Given the description of an element on the screen output the (x, y) to click on. 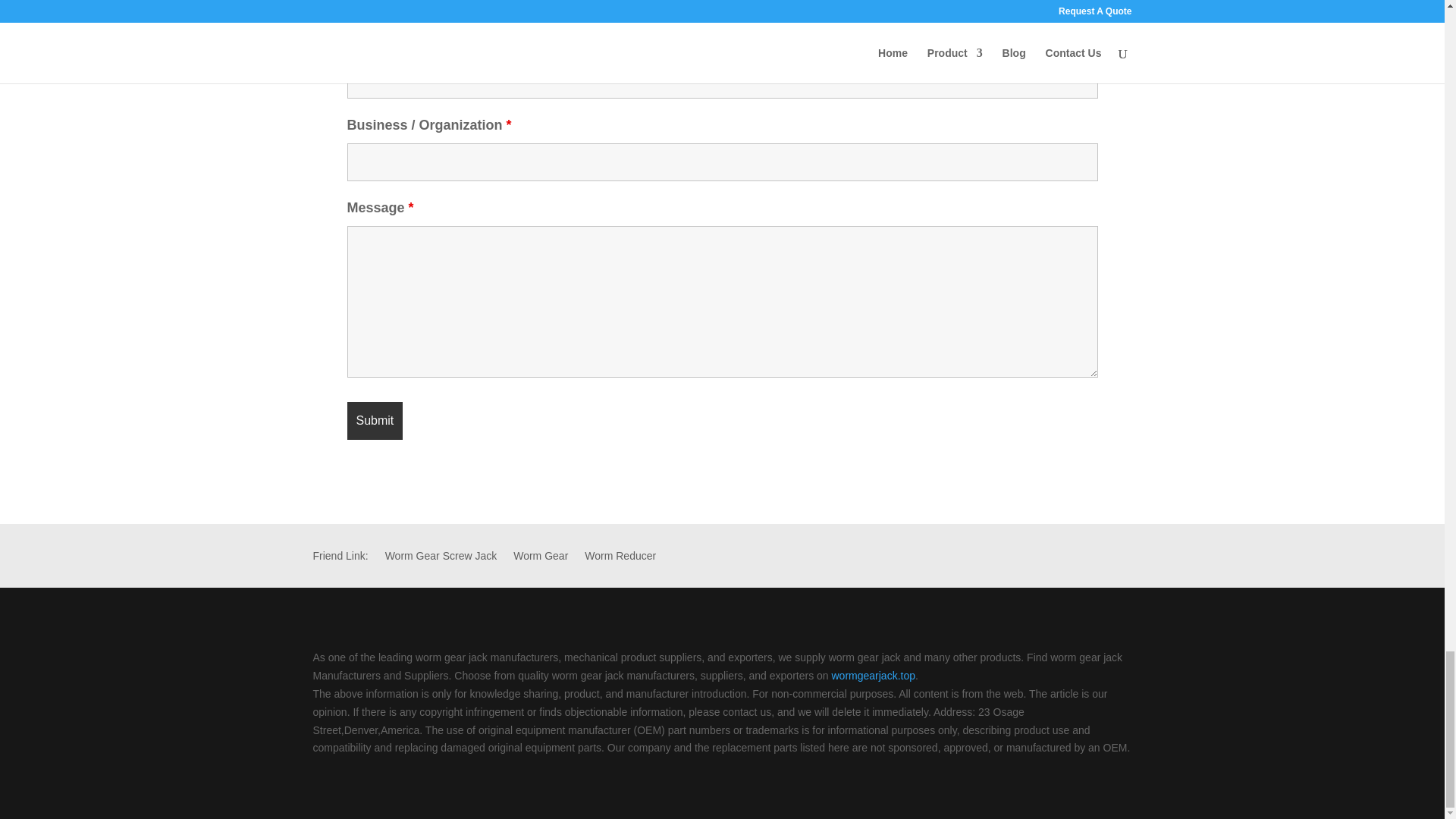
Submit (375, 420)
